Given the description of an element on the screen output the (x, y) to click on. 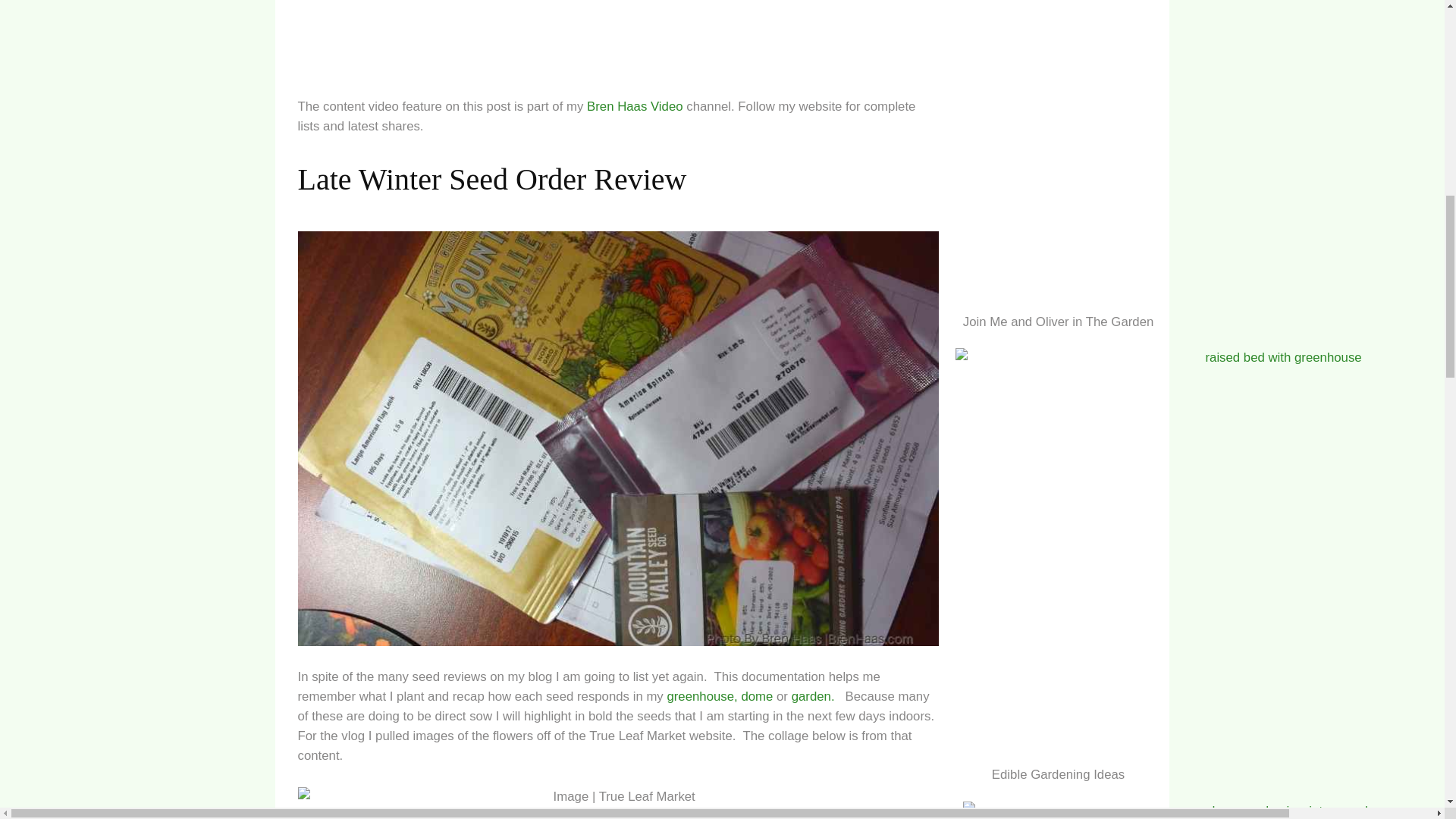
Bren Haas Video (634, 106)
garden.  (815, 696)
greenhouse, dome (719, 696)
